Given the description of an element on the screen output the (x, y) to click on. 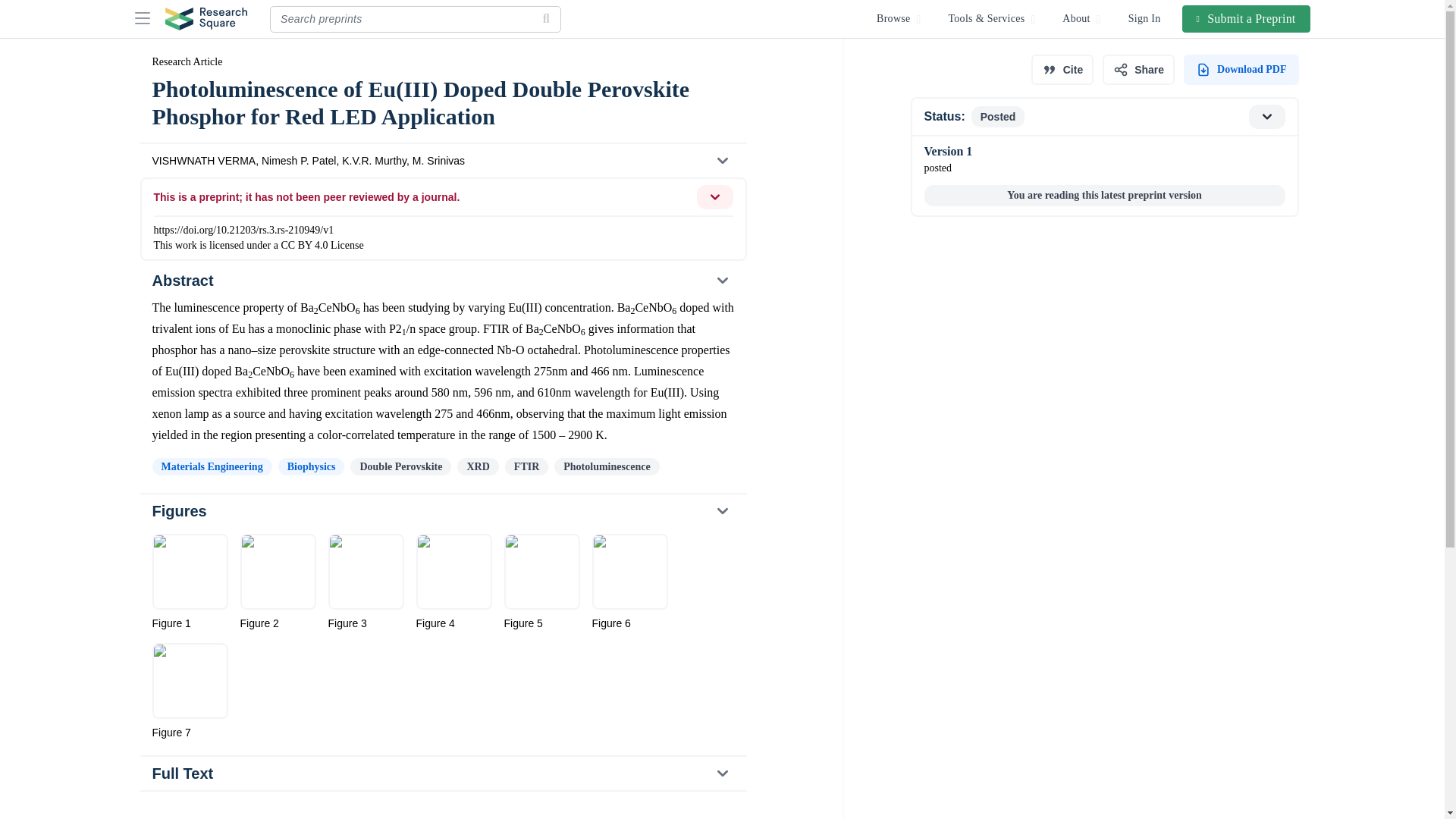
Abstract (442, 280)
Cite (1061, 69)
Figures (442, 510)
Full Text (442, 773)
Sign In (1144, 18)
VISHWNATH VERMA, Nimesh P. Patel, K.V.R. Murthy, M. Srinivas (442, 160)
Submit a Preprint (1246, 18)
Share (1138, 69)
Materials Engineering (210, 466)
